Given the description of an element on the screen output the (x, y) to click on. 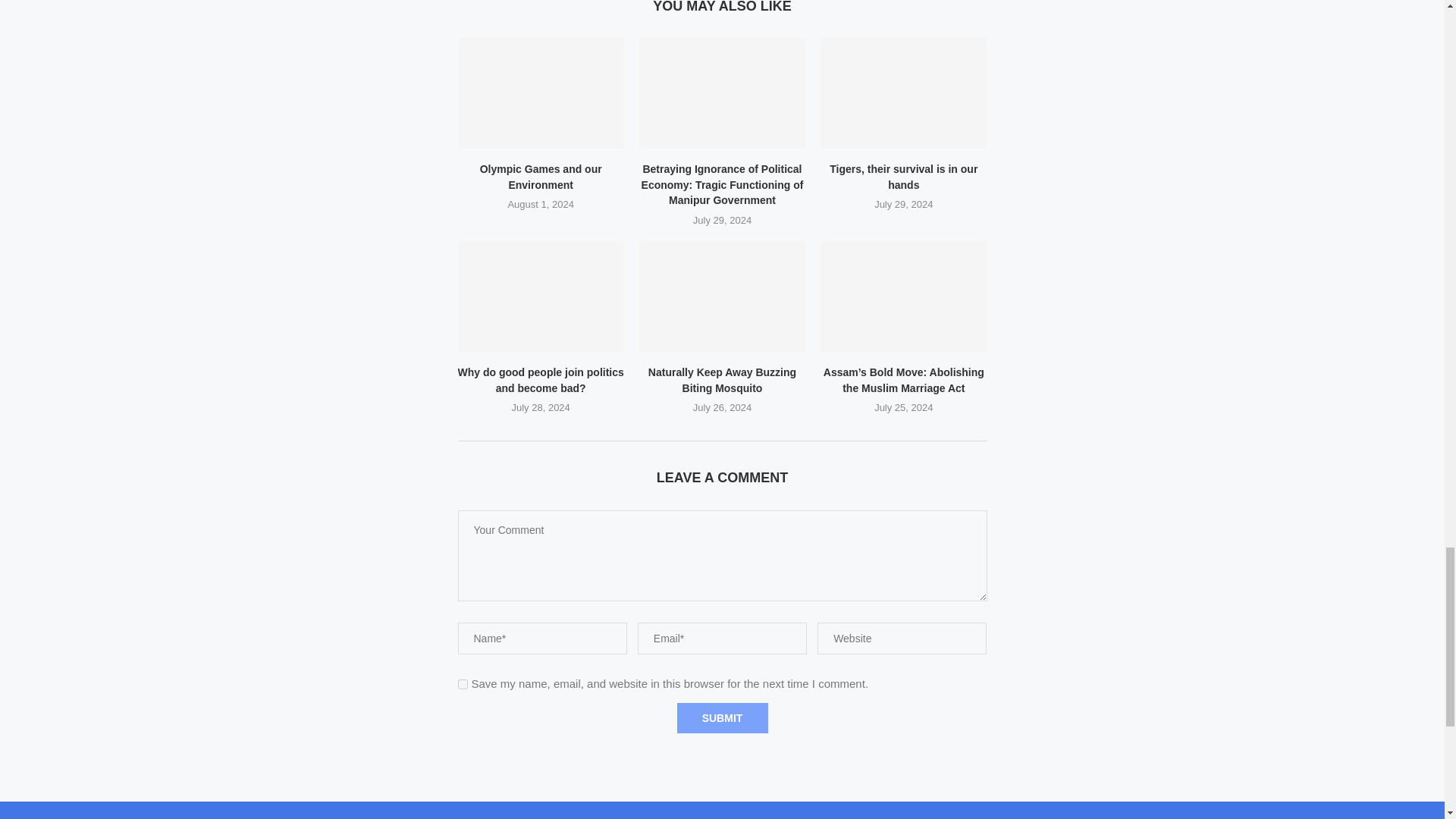
Submit (722, 717)
Naturally Keep Away Buzzing Biting Mosquito (722, 296)
yes (462, 684)
Olympic Games and our Environment (541, 92)
Tigers, their survival is in our hands (904, 92)
Why do good people join politics and become bad? (541, 296)
